Given the description of an element on the screen output the (x, y) to click on. 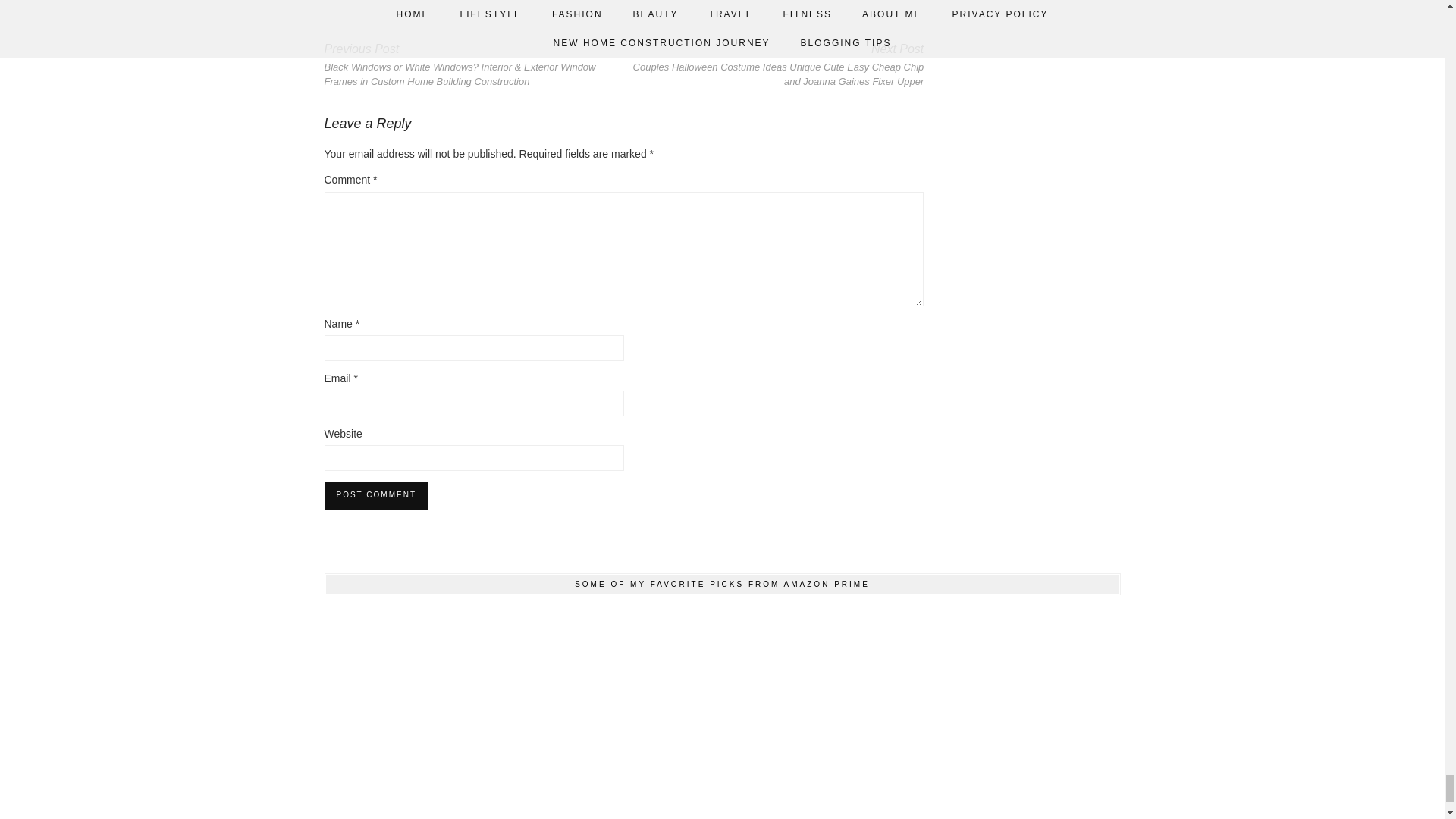
Post Comment (376, 494)
Post Comment (376, 494)
